Given the description of an element on the screen output the (x, y) to click on. 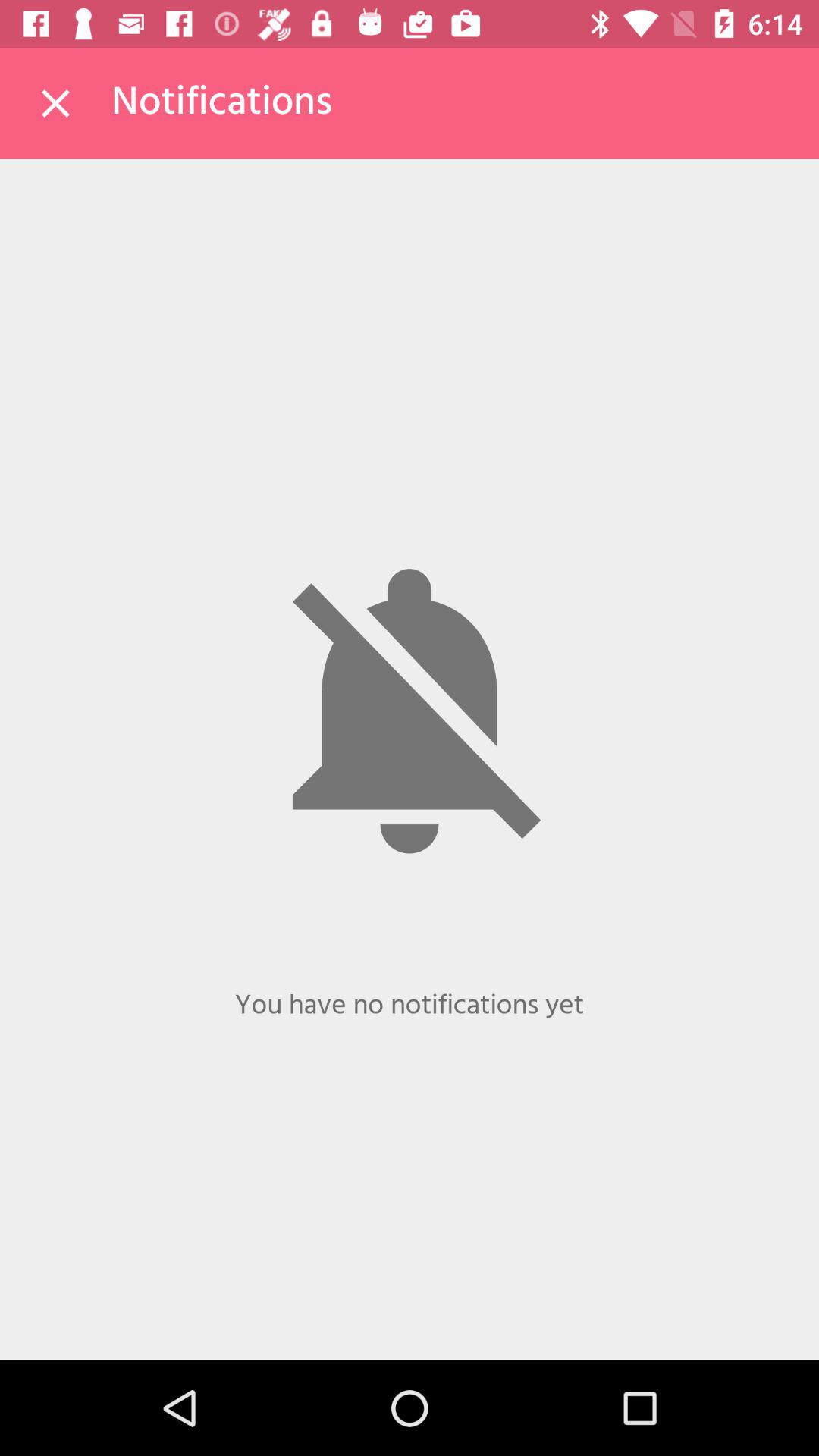
launch the icon to the left of the notifications item (55, 103)
